Given the description of an element on the screen output the (x, y) to click on. 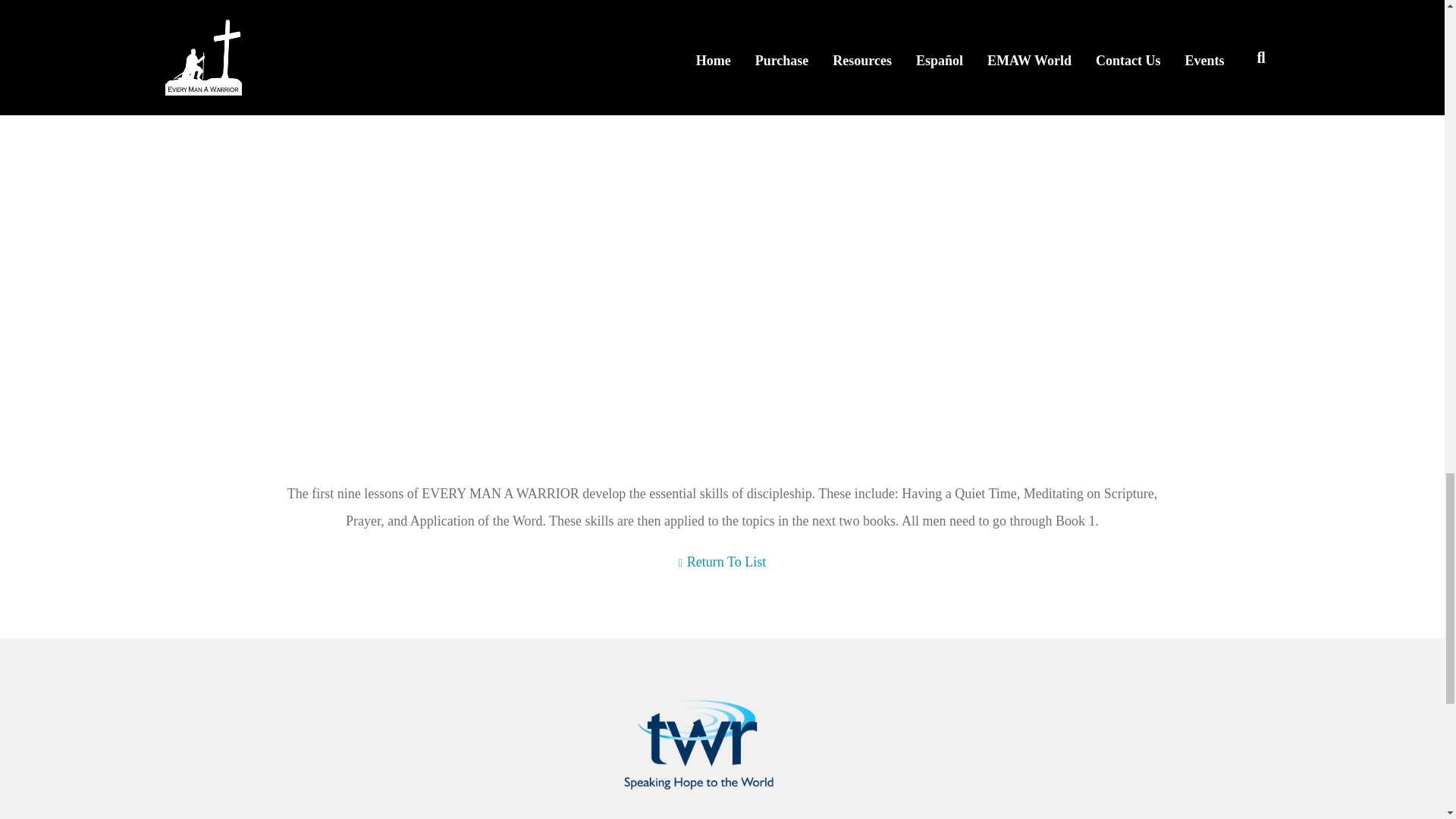
Return To List (722, 561)
